Given the description of an element on the screen output the (x, y) to click on. 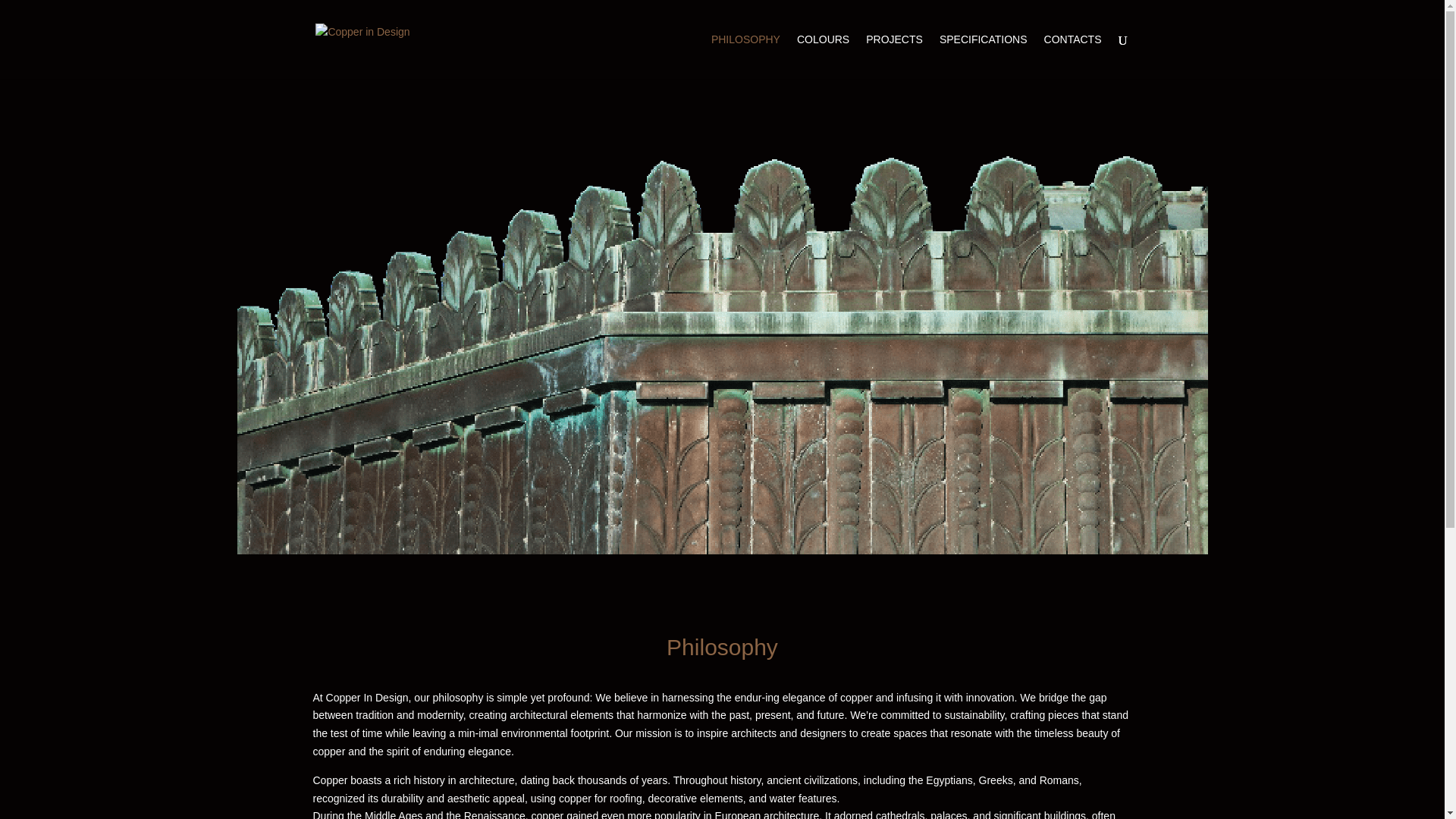
PROJECTS (894, 56)
CONTACTS (1072, 56)
PHILOSOPHY (745, 56)
COLOURS (822, 56)
SPECIFICATIONS (983, 56)
